Given the description of an element on the screen output the (x, y) to click on. 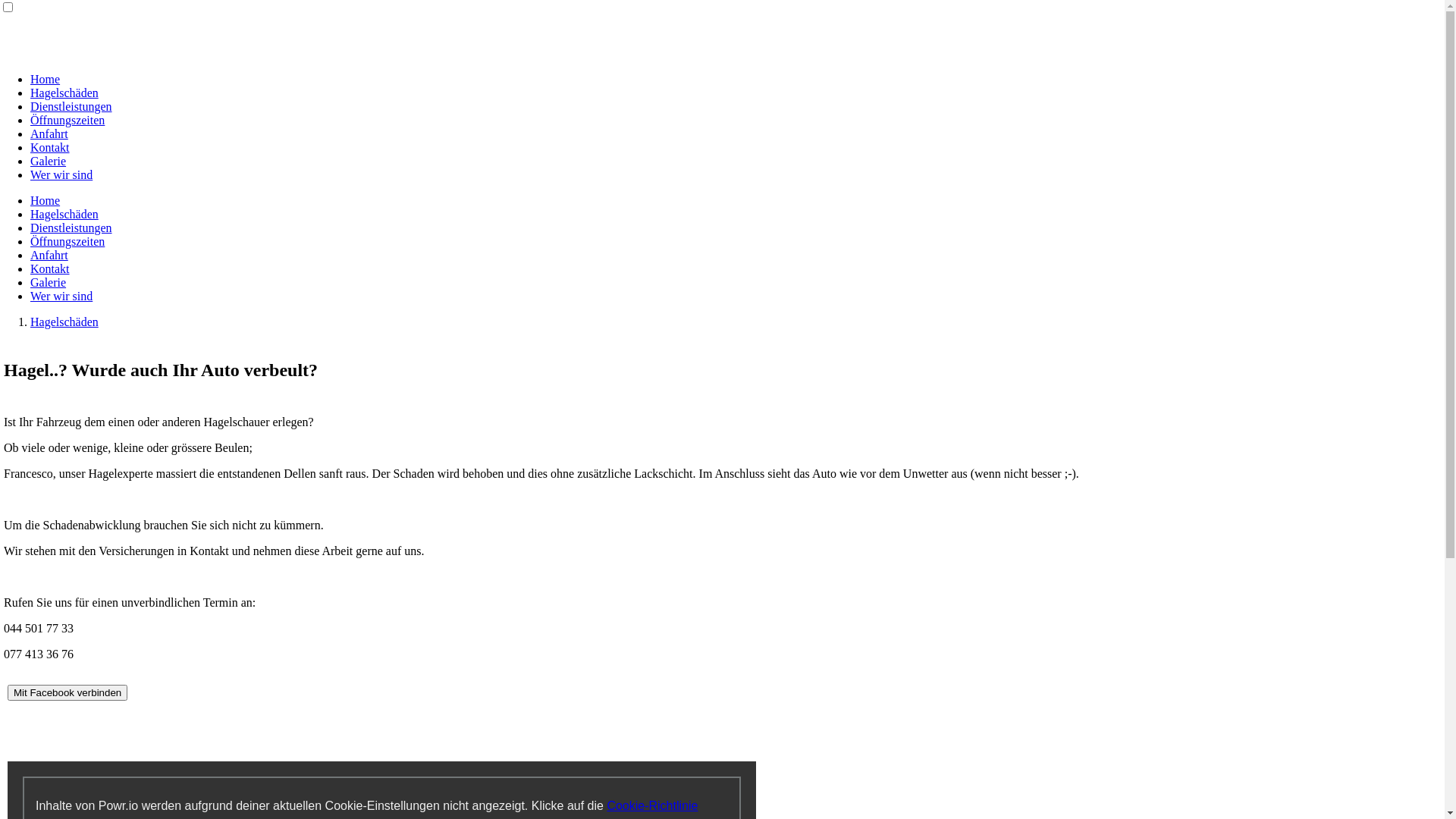
Dienstleistungen Element type: text (71, 227)
Wer wir sind Element type: text (61, 295)
Kontakt Element type: text (49, 147)
Home Element type: text (44, 78)
Anfahrt Element type: text (49, 254)
Home Element type: text (44, 200)
Galerie Element type: text (47, 282)
Anfahrt Element type: text (49, 133)
Galerie Element type: text (47, 160)
Wer wir sind Element type: text (61, 174)
Kontakt Element type: text (49, 268)
Cookie-Richtlinie Element type: text (651, 805)
Dienstleistungen Element type: text (71, 106)
Mit Facebook verbinden Element type: text (67, 692)
